Given the description of an element on the screen output the (x, y) to click on. 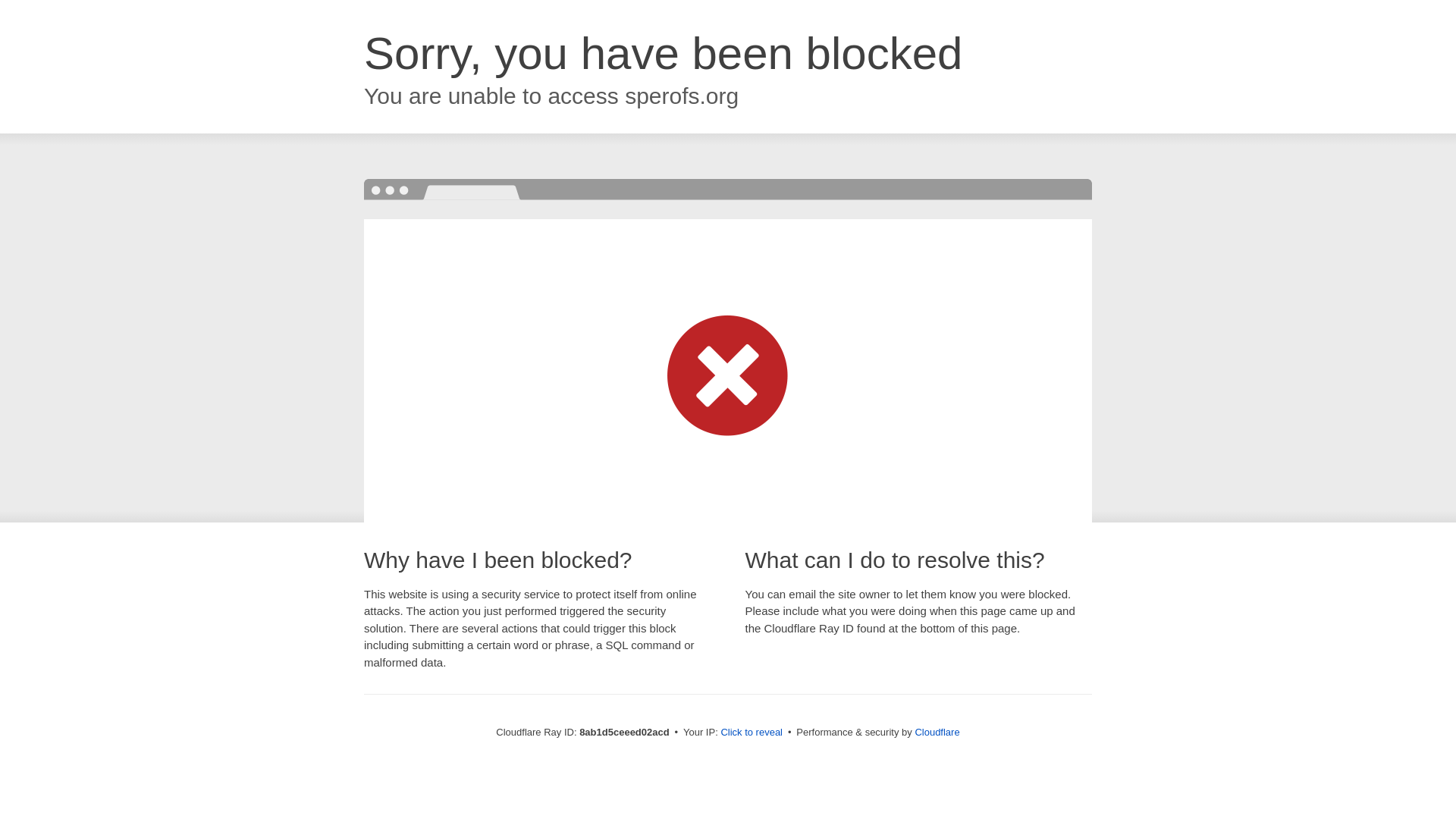
Cloudflare (936, 731)
Click to reveal (751, 732)
